Given the description of an element on the screen output the (x, y) to click on. 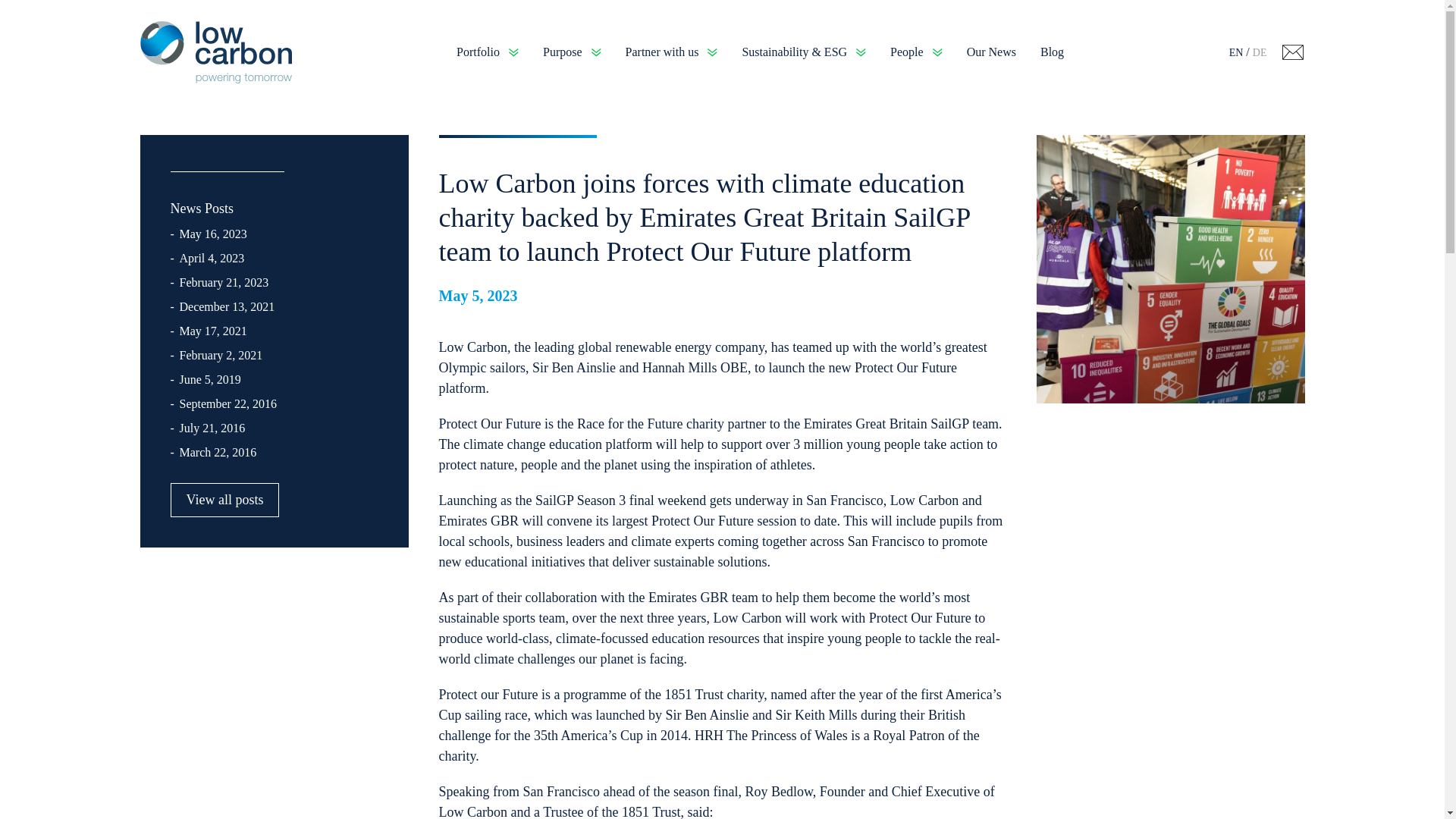
September 22, 2016 (227, 405)
May 17, 2021 (212, 333)
May 16, 2023 (212, 235)
Portfolio (487, 52)
Purpose (572, 52)
People (915, 52)
June 5, 2019 (209, 381)
Our News (991, 51)
March 22, 2016 (217, 454)
Blog (1052, 51)
July 21, 2016 (211, 429)
View all posts (224, 499)
February 2, 2021 (220, 357)
Partner with us (671, 52)
February 21, 2023 (223, 284)
